Given the description of an element on the screen output the (x, y) to click on. 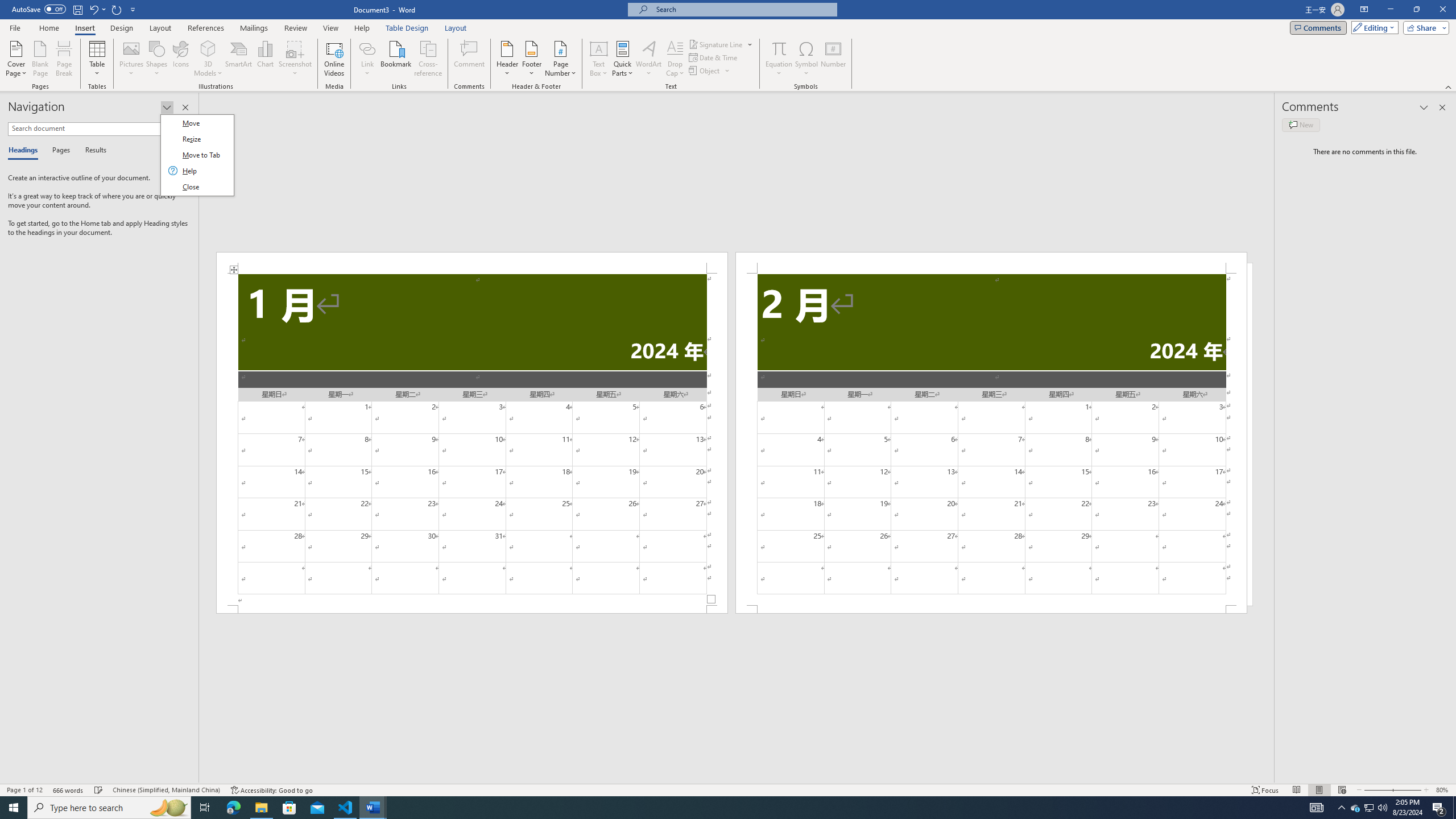
Number... (833, 58)
Blank Page (40, 58)
WordArt (648, 58)
Table (97, 58)
Page 1 content (471, 439)
Action Center, 2 new notifications (1439, 807)
Class: Net UI Tool Window (197, 155)
Language Chinese (Simplified, Mainland China) (165, 790)
Microsoft search (742, 9)
